Given the description of an element on the screen output the (x, y) to click on. 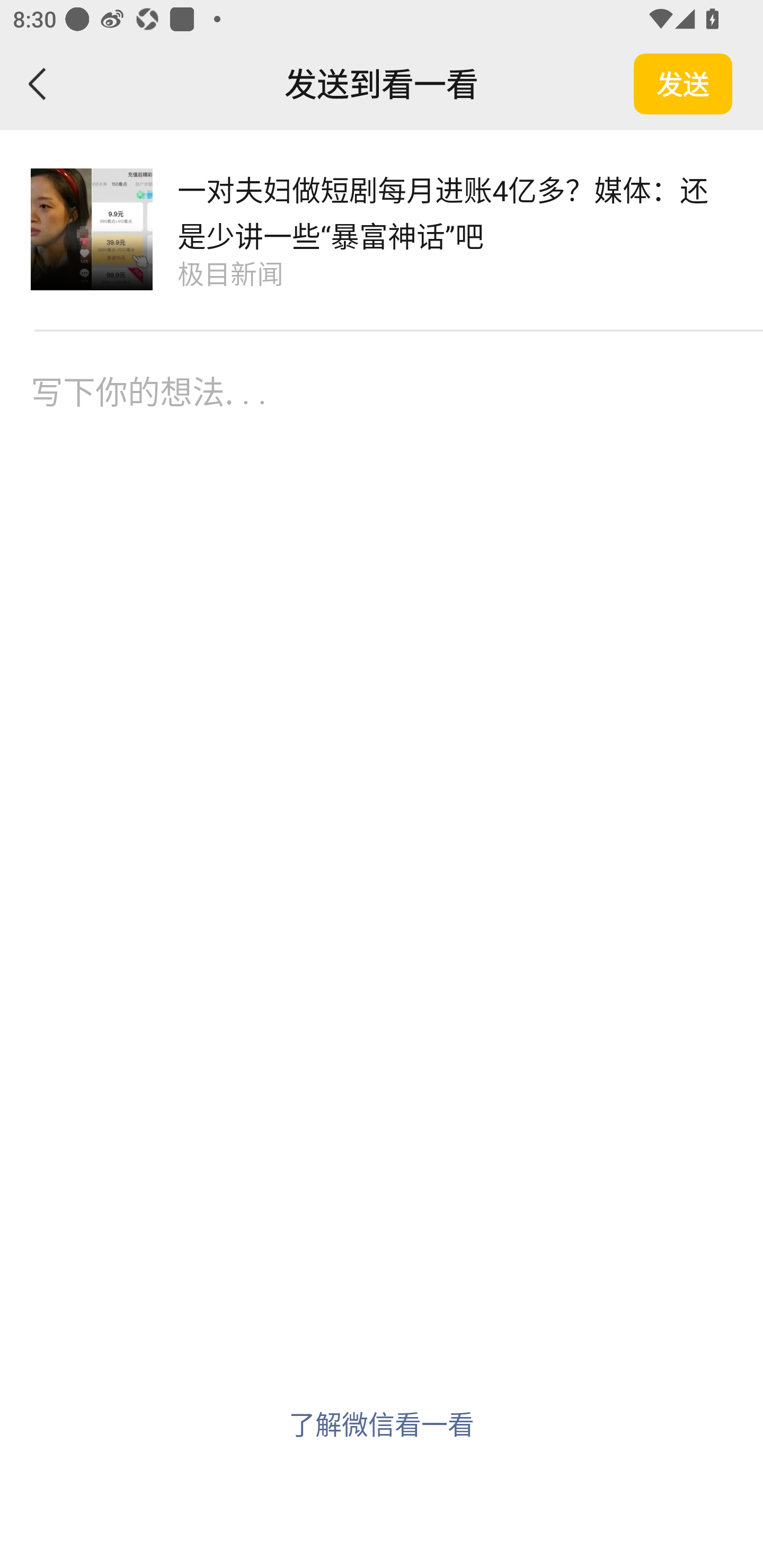
返回按钮 (38, 83)
发送 (683, 83)
写下你的想法. . . (381, 434)
了解微信看一看 (381, 1422)
